Given the description of an element on the screen output the (x, y) to click on. 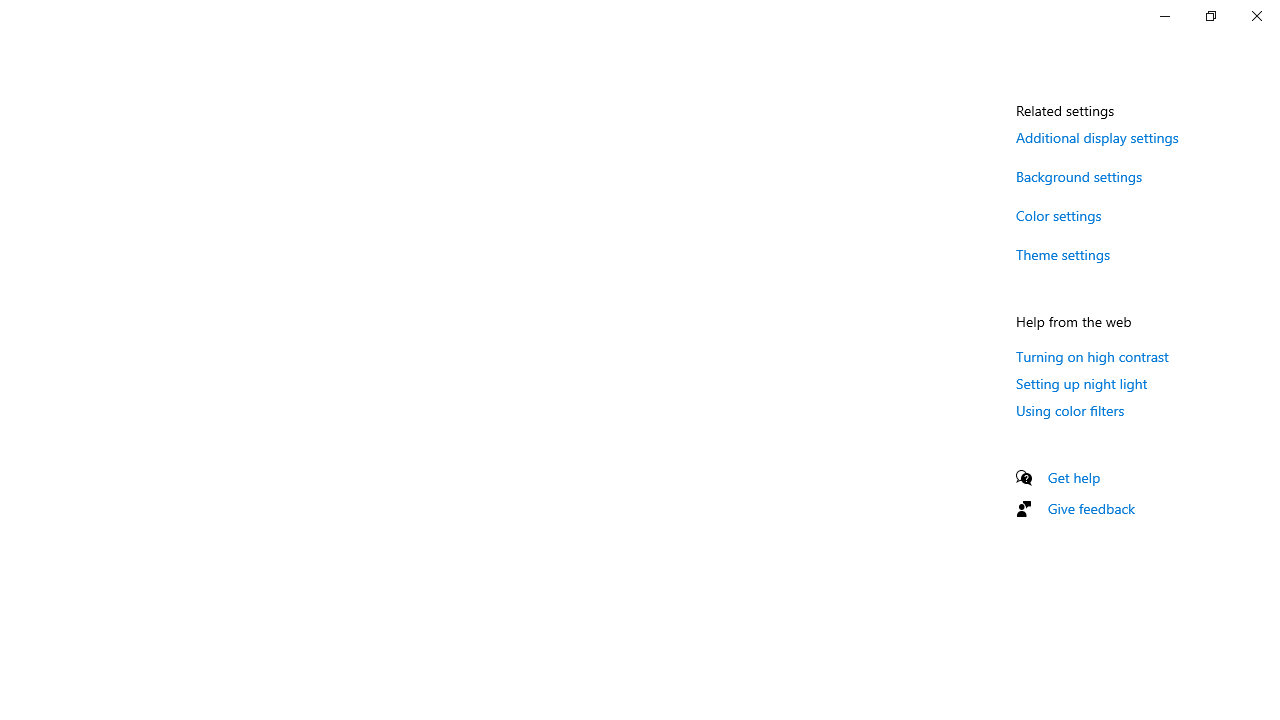
Turning on high contrast (1092, 356)
Give feedback (1091, 507)
Using color filters (1070, 410)
Close Settings (1256, 15)
Color settings (1059, 214)
Setting up night light (1082, 383)
Background settings (1079, 176)
Minimize Settings (1164, 15)
Restore Settings (1210, 15)
Get help (1074, 477)
Theme settings (1063, 254)
Additional display settings (1097, 137)
